Given the description of an element on the screen output the (x, y) to click on. 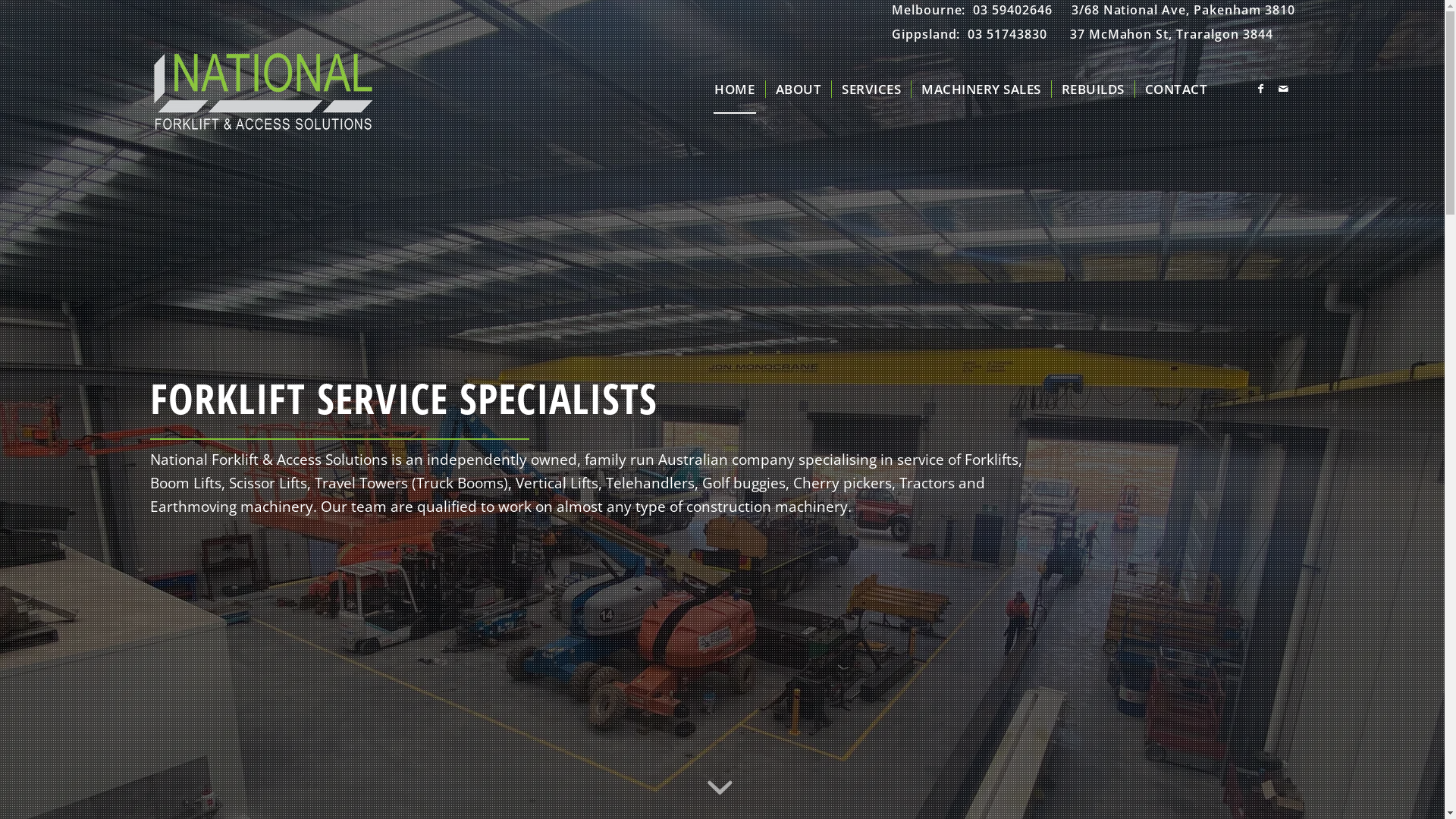
Mail Element type: hover (1283, 88)
ABOUT Element type: text (798, 89)
MACHINERY SALES Element type: text (980, 89)
REBUILDS Element type: text (1092, 89)
CONTACT Element type: text (1175, 89)
HOME Element type: text (734, 89)
Facebook Element type: hover (1260, 88)
SERVICES Element type: text (870, 89)
